Given the description of an element on the screen output the (x, y) to click on. 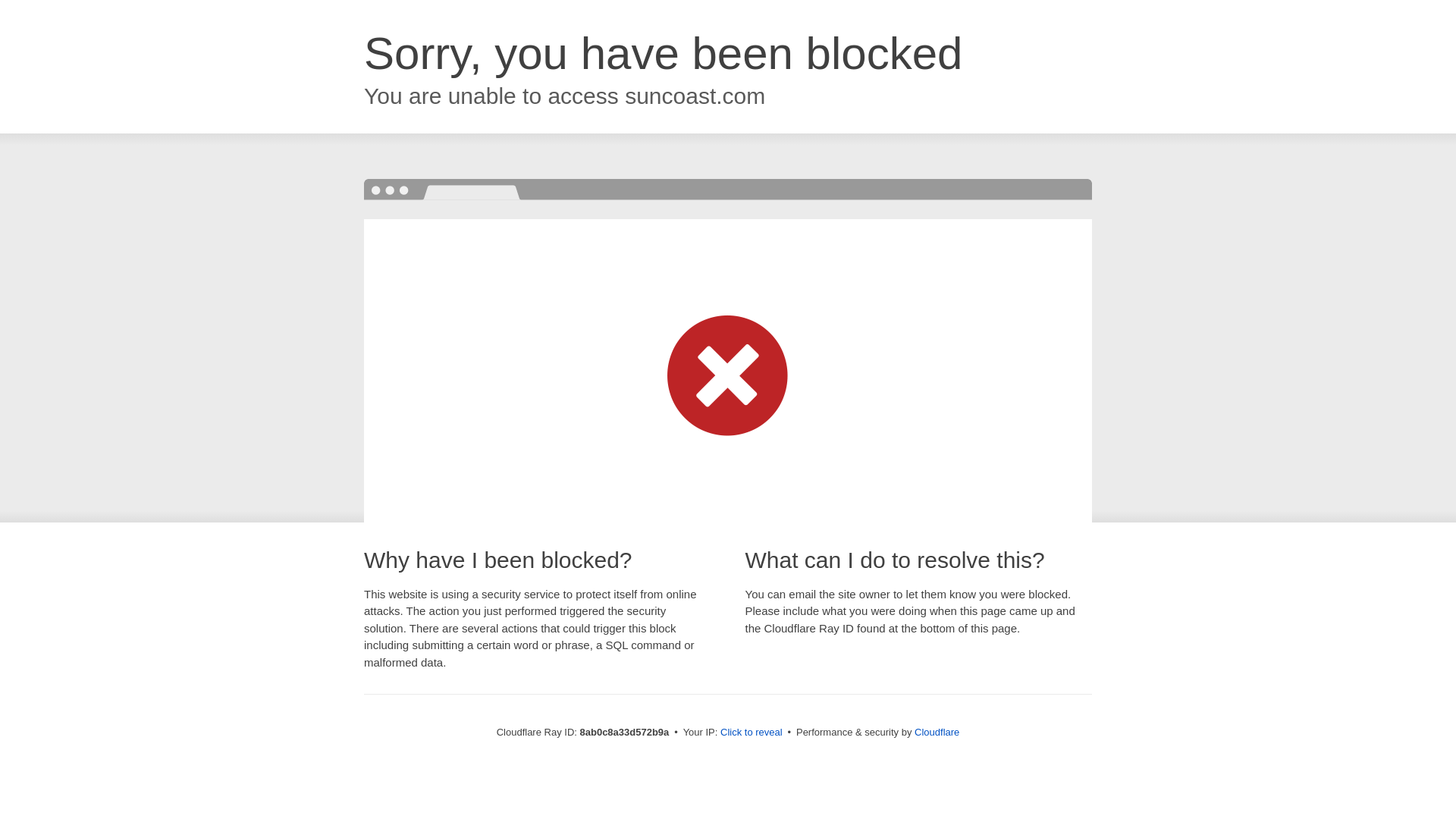
Cloudflare (936, 731)
Click to reveal (751, 732)
